Given the description of an element on the screen output the (x, y) to click on. 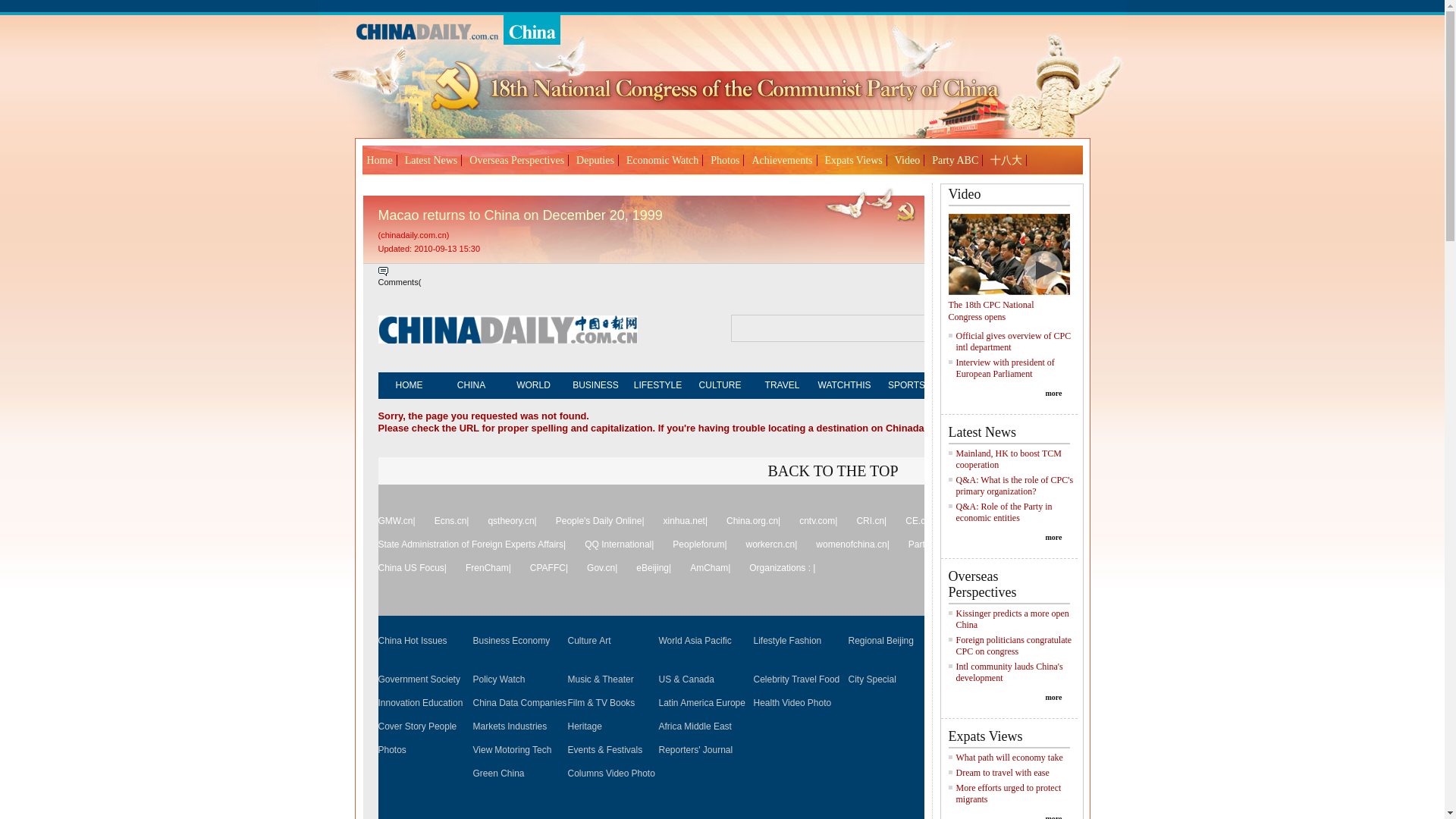
LIFESTYLE (657, 385)
Overseas Perspectives (516, 160)
Photos (725, 160)
WORLD (533, 385)
NEWSPAPER (1155, 385)
FORUM (1092, 385)
Deputies (595, 160)
MOBILE (1242, 385)
TRAVEL (781, 385)
Economic Watch (662, 160)
